Given the description of an element on the screen output the (x, y) to click on. 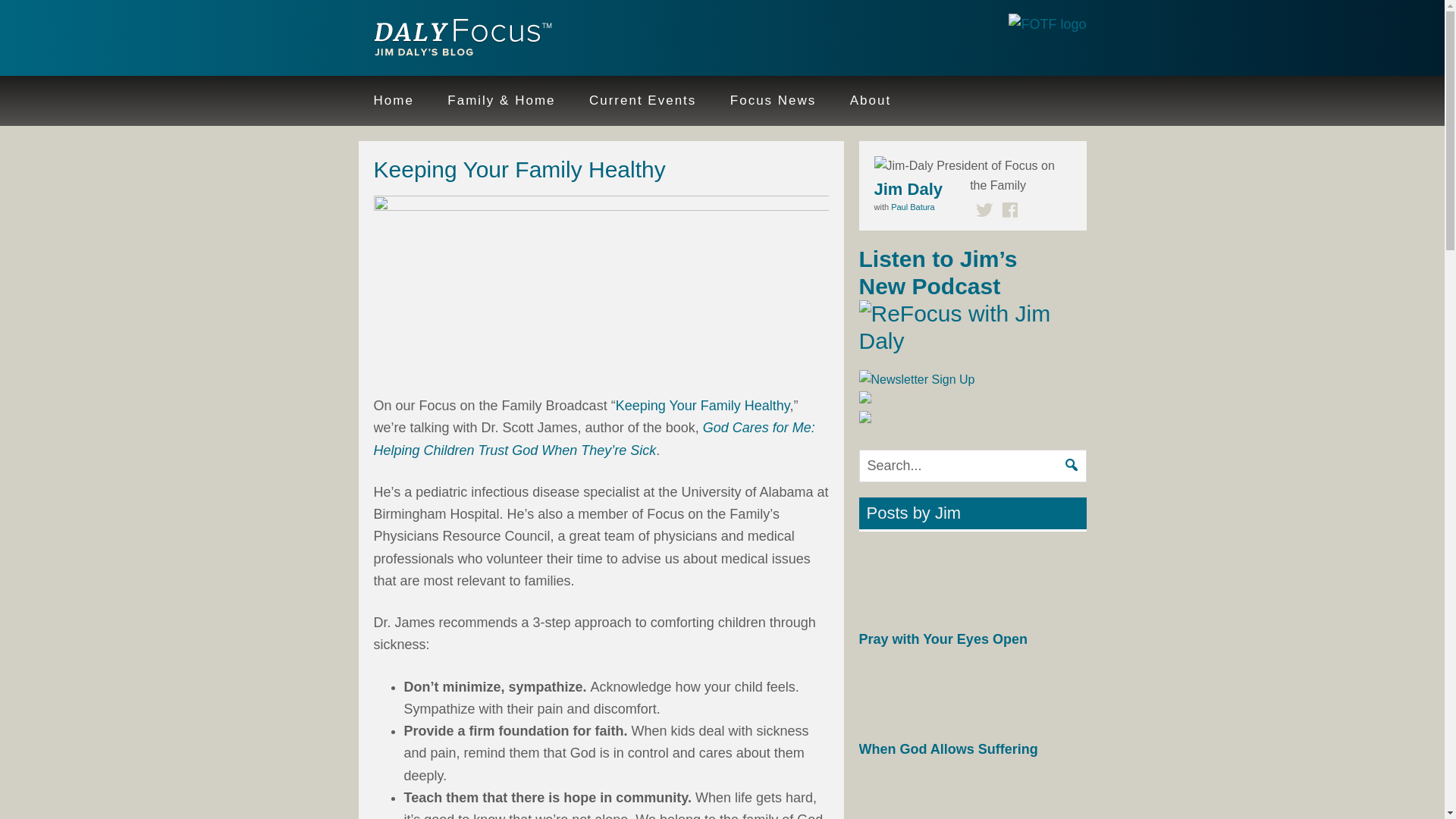
Home (393, 101)
Jim Daly (907, 188)
Paul Batura (912, 206)
Jim Daly (456, 39)
Current Events (642, 101)
Pray with Your Eyes Open (942, 638)
Keeping Your Family Healthy (702, 405)
Focus News (772, 101)
About (869, 101)
